Given the description of an element on the screen output the (x, y) to click on. 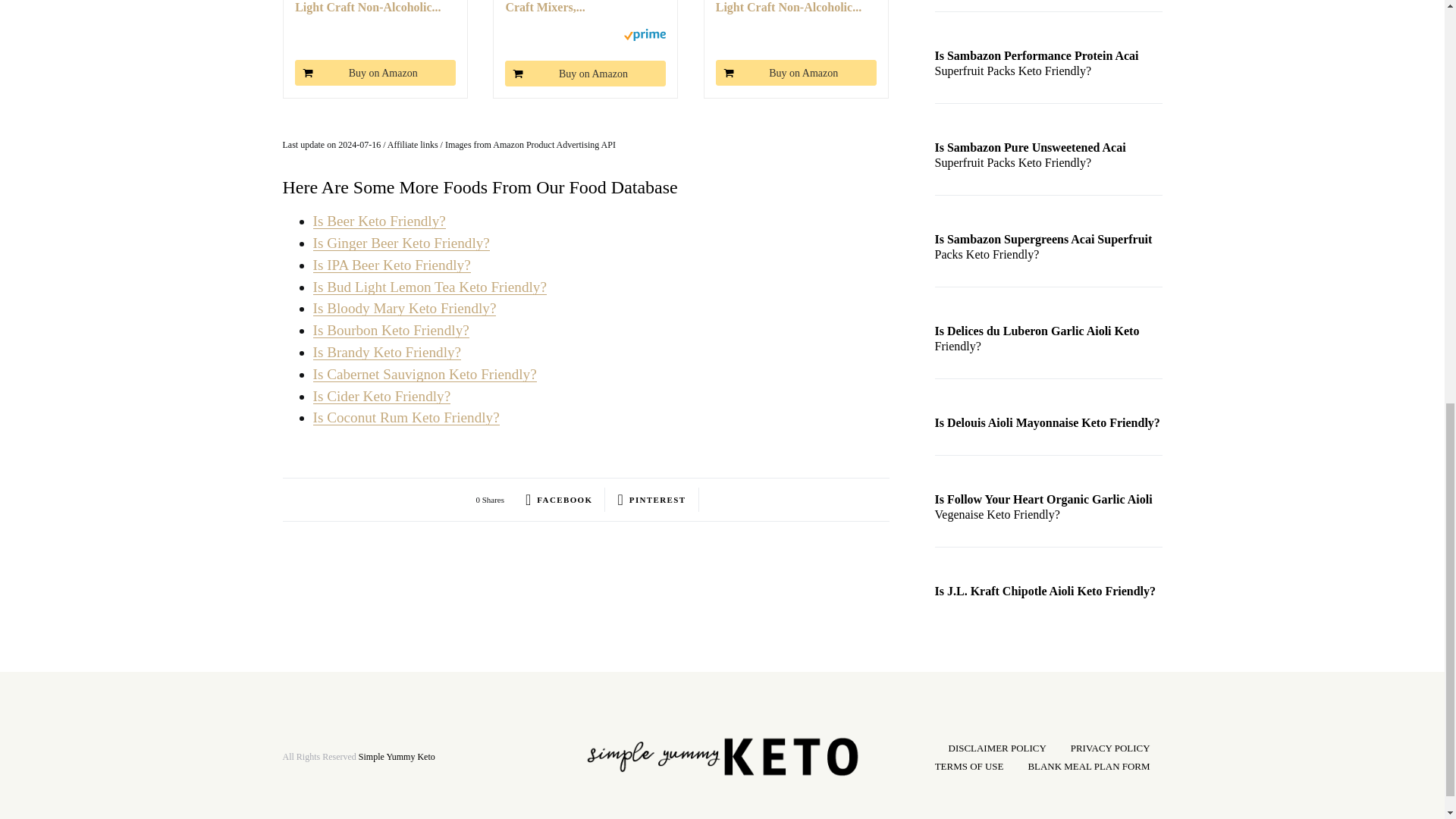
Buy on Amazon (796, 72)
Buy on Amazon (375, 72)
Athletic Brewing Company Light Craft Non-Alcoholic... (796, 7)
Is Bloody Mary Keto Friendly? (404, 308)
Is Bud Light Lemon Tea Keto Friendly? (429, 286)
Buy on Amazon (375, 72)
Buy on Amazon (585, 73)
Amazon Prime (644, 33)
Is Bourbon Keto Friendly? (390, 330)
Is Beer Keto Friendly? (379, 220)
Is IPA Beer Keto Friendly? (391, 264)
PINTEREST (651, 499)
Buy on Amazon (796, 72)
Is Coconut Rum Keto Friendly? (406, 417)
